Given the description of an element on the screen output the (x, y) to click on. 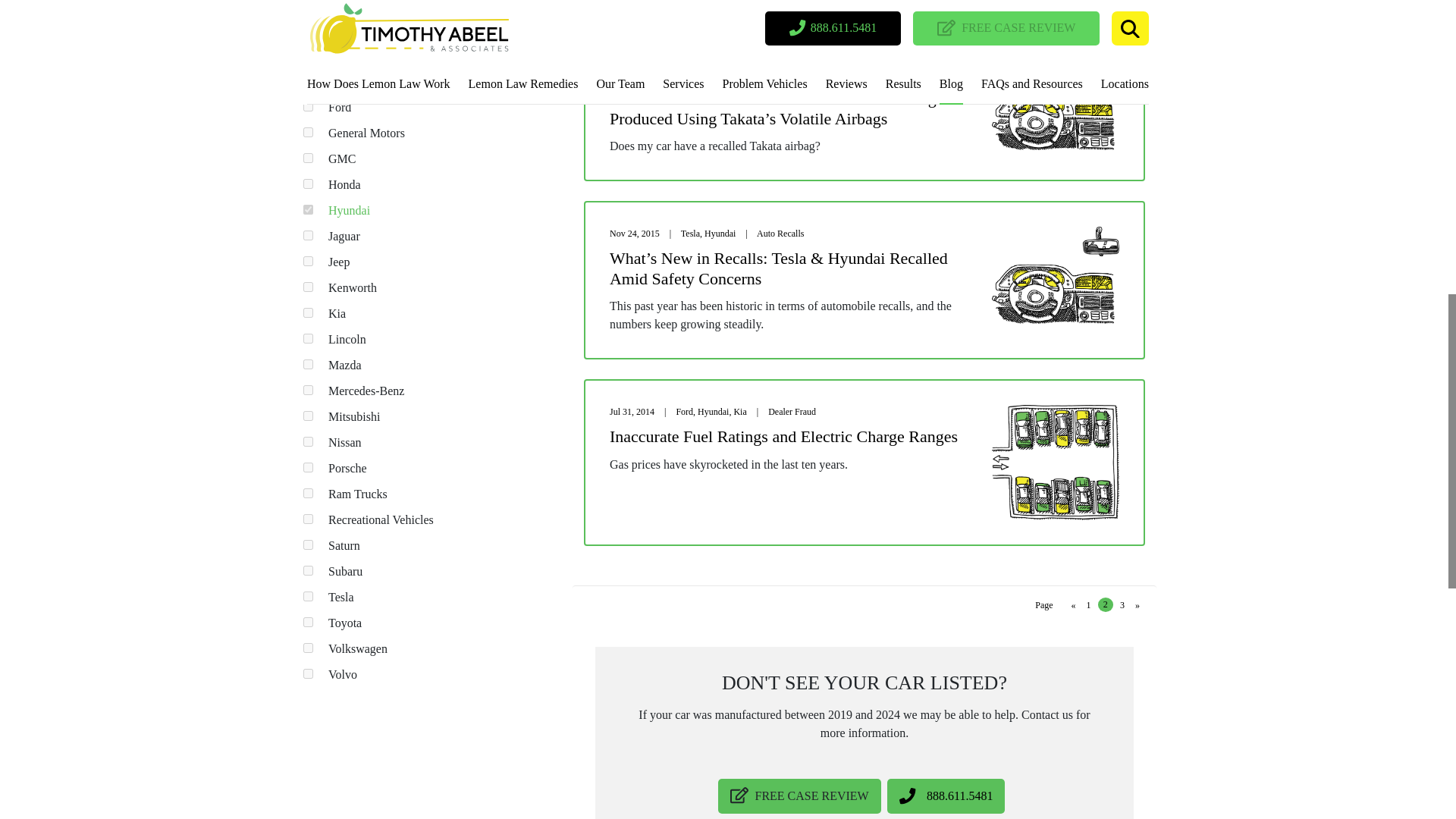
187 (307, 132)
18 (307, 106)
17 (307, 4)
352 (307, 54)
1139 (307, 80)
2862 (307, 29)
